Given the description of an element on the screen output the (x, y) to click on. 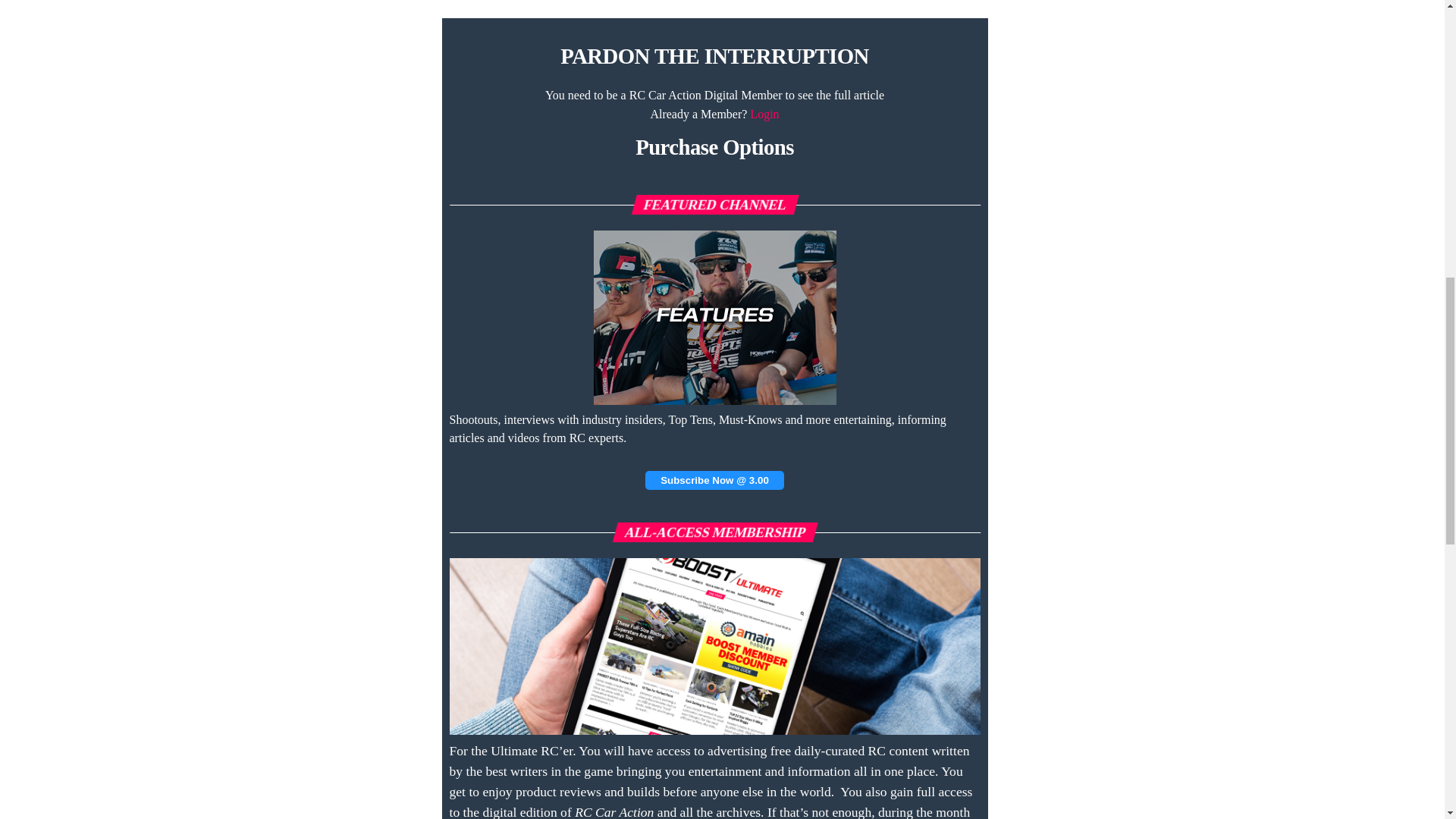
Login (763, 113)
